Given the description of an element on the screen output the (x, y) to click on. 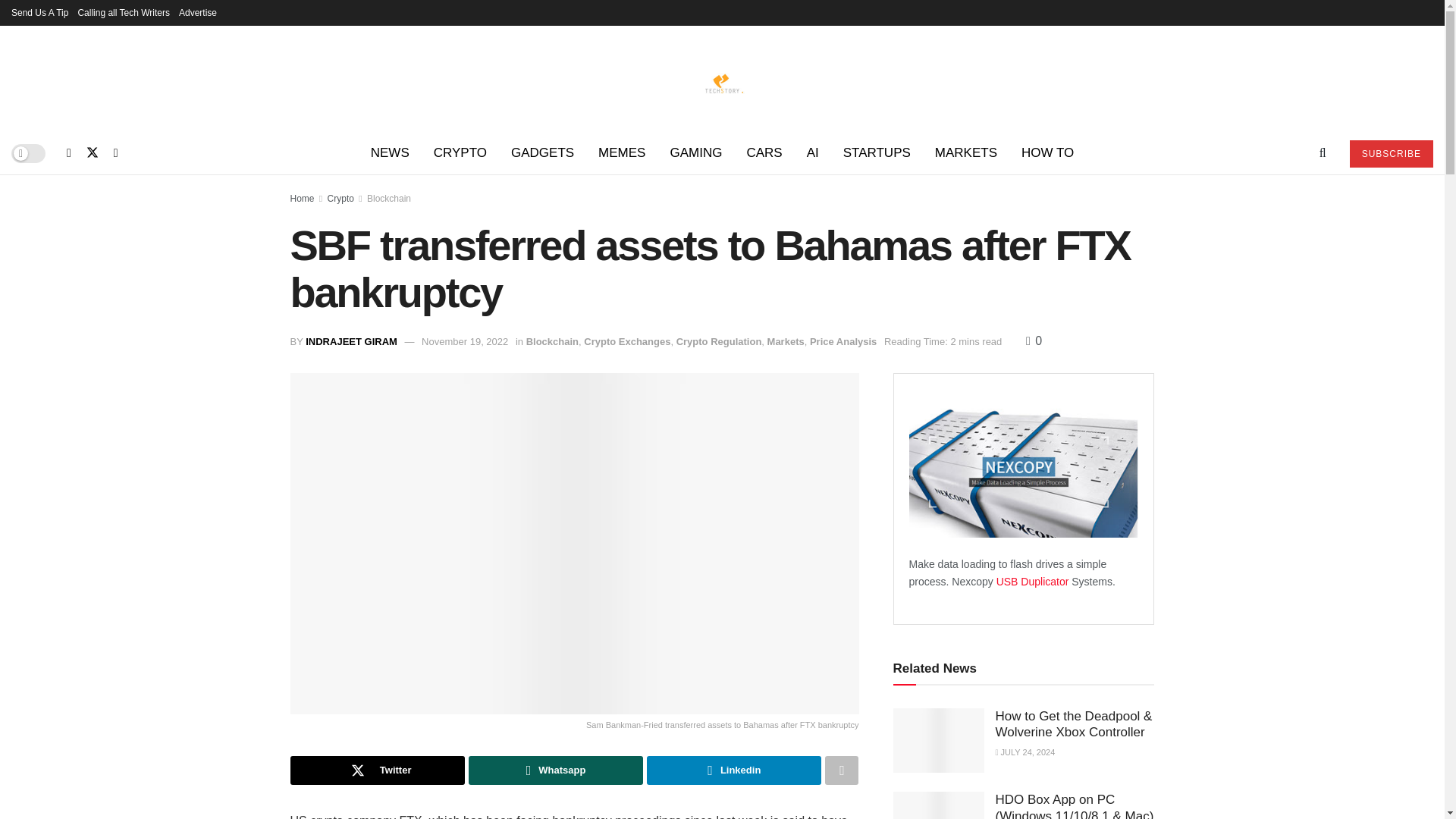
Send Us A Tip (39, 12)
CARS (763, 152)
HOW TO (1047, 152)
SUBSCRIBE (1390, 153)
MARKETS (966, 152)
CRYPTO (460, 152)
Home (301, 198)
Blockchain (388, 198)
Calling all Tech Writers (123, 12)
GAMING (695, 152)
USB duplicator (1033, 581)
MEMES (622, 152)
NEWS (390, 152)
STARTUPS (877, 152)
Crypto (340, 198)
